Given the description of an element on the screen output the (x, y) to click on. 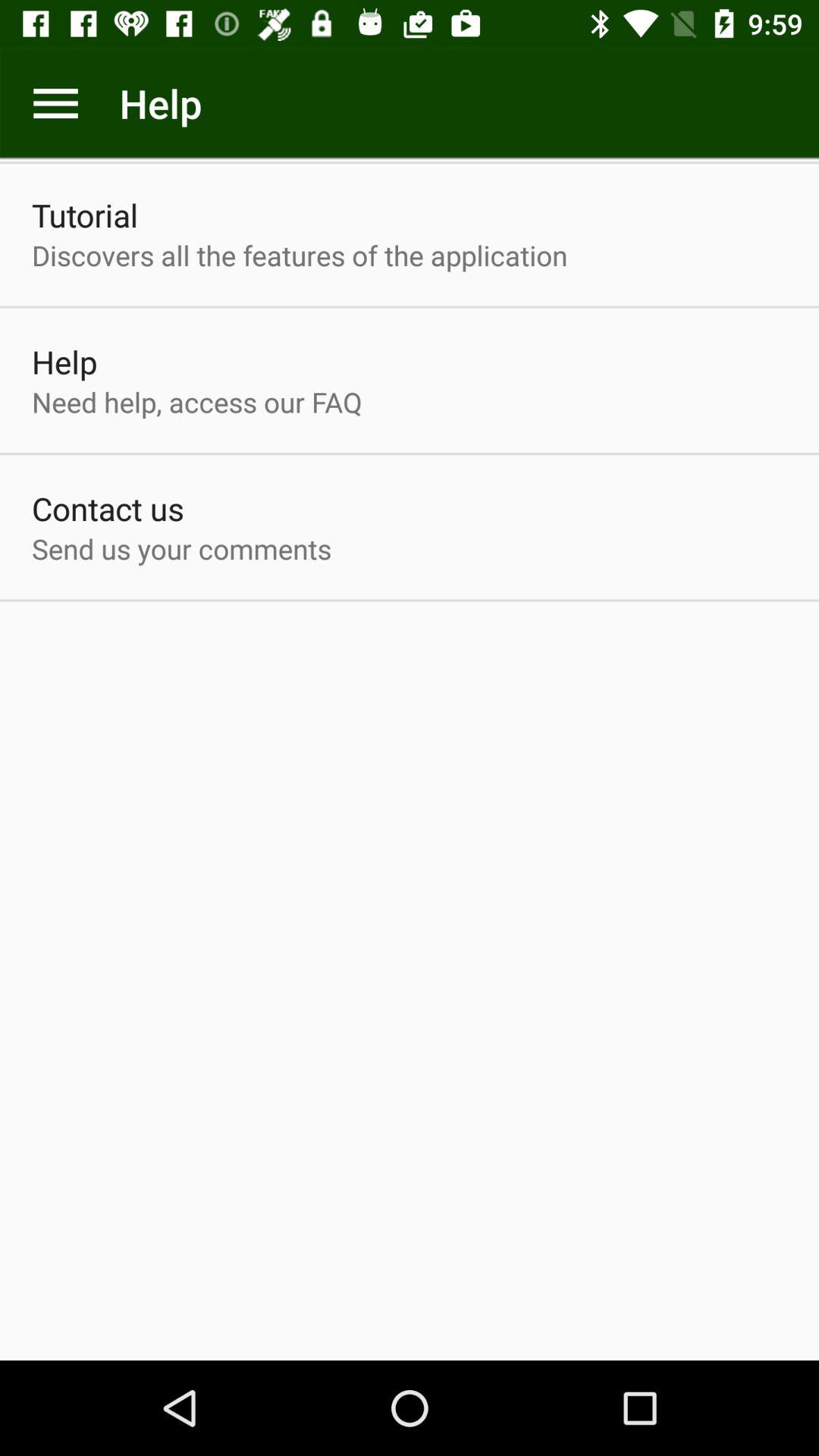
open menu (55, 103)
